Given the description of an element on the screen output the (x, y) to click on. 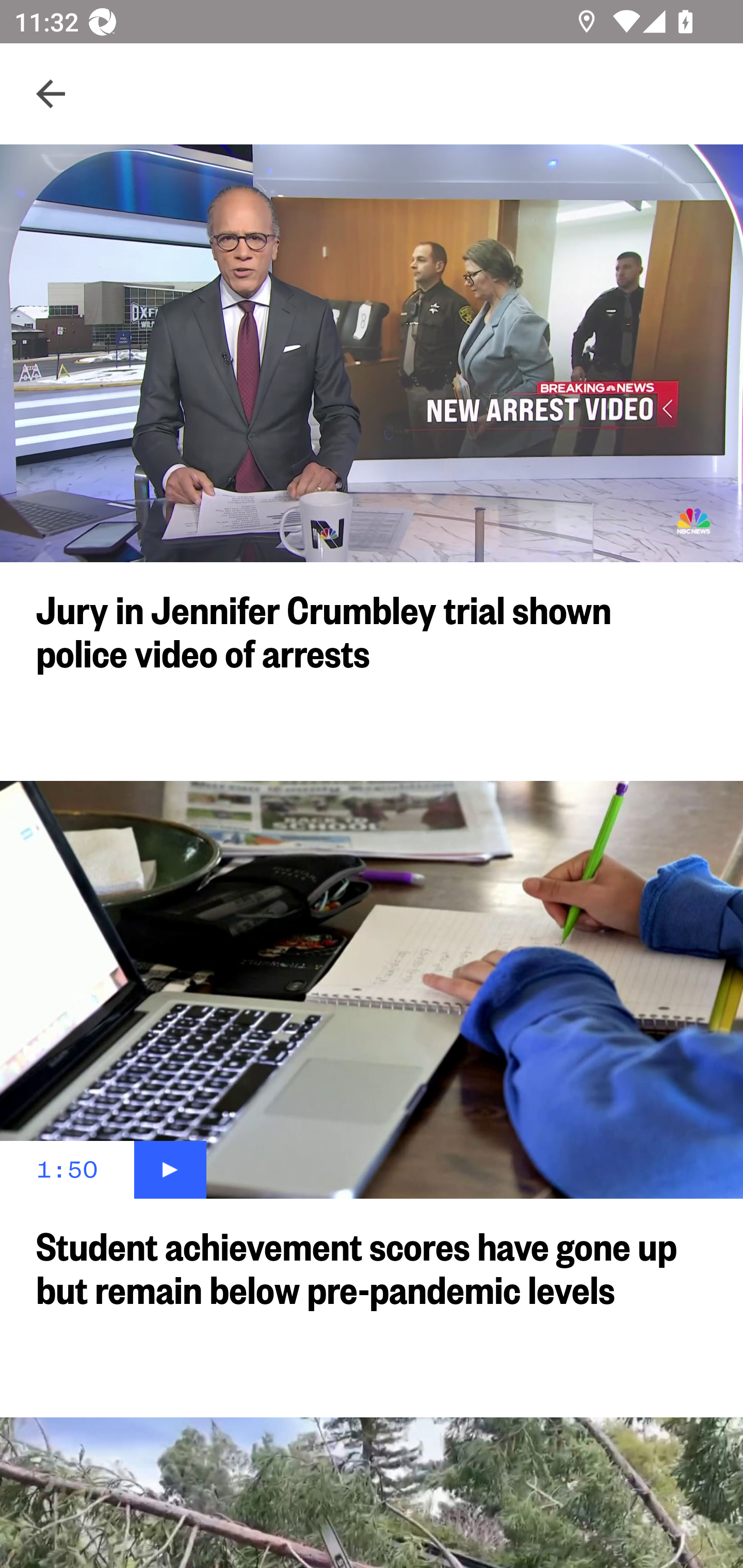
Navigate up (50, 93)
